Given the description of an element on the screen output the (x, y) to click on. 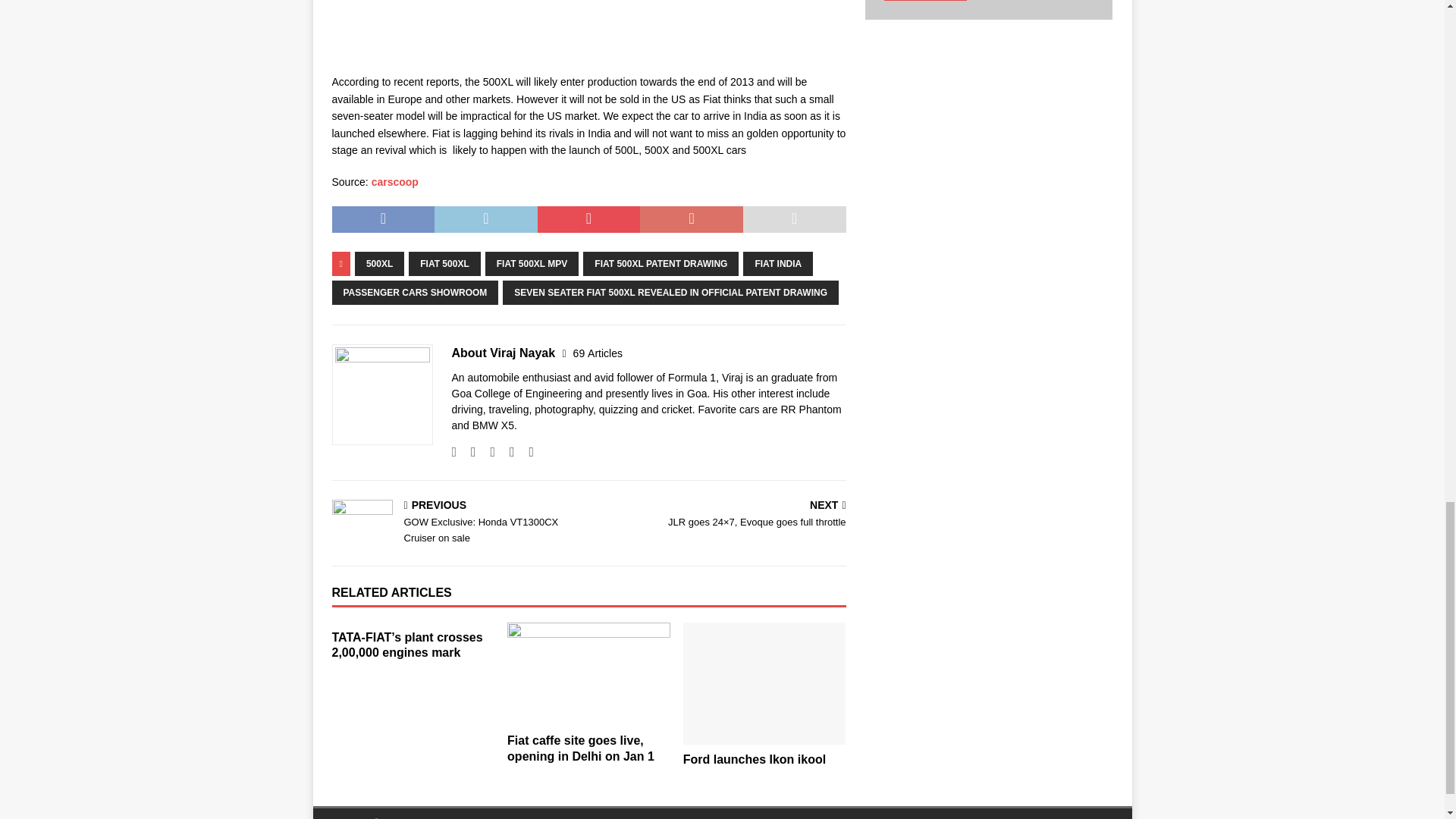
carscoop (395, 182)
